Given the description of an element on the screen output the (x, y) to click on. 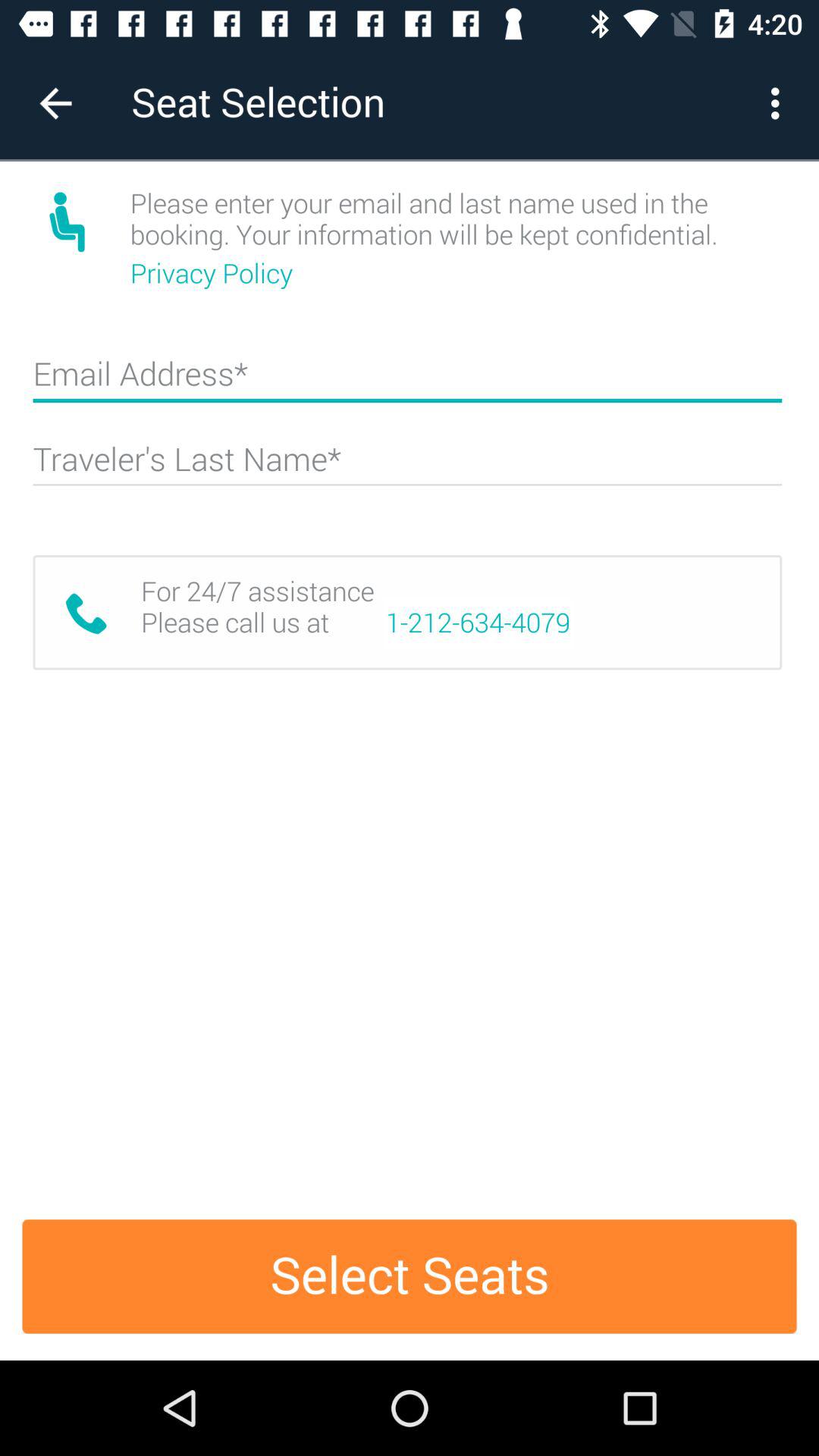
enter the name box (407, 465)
